Given the description of an element on the screen output the (x, y) to click on. 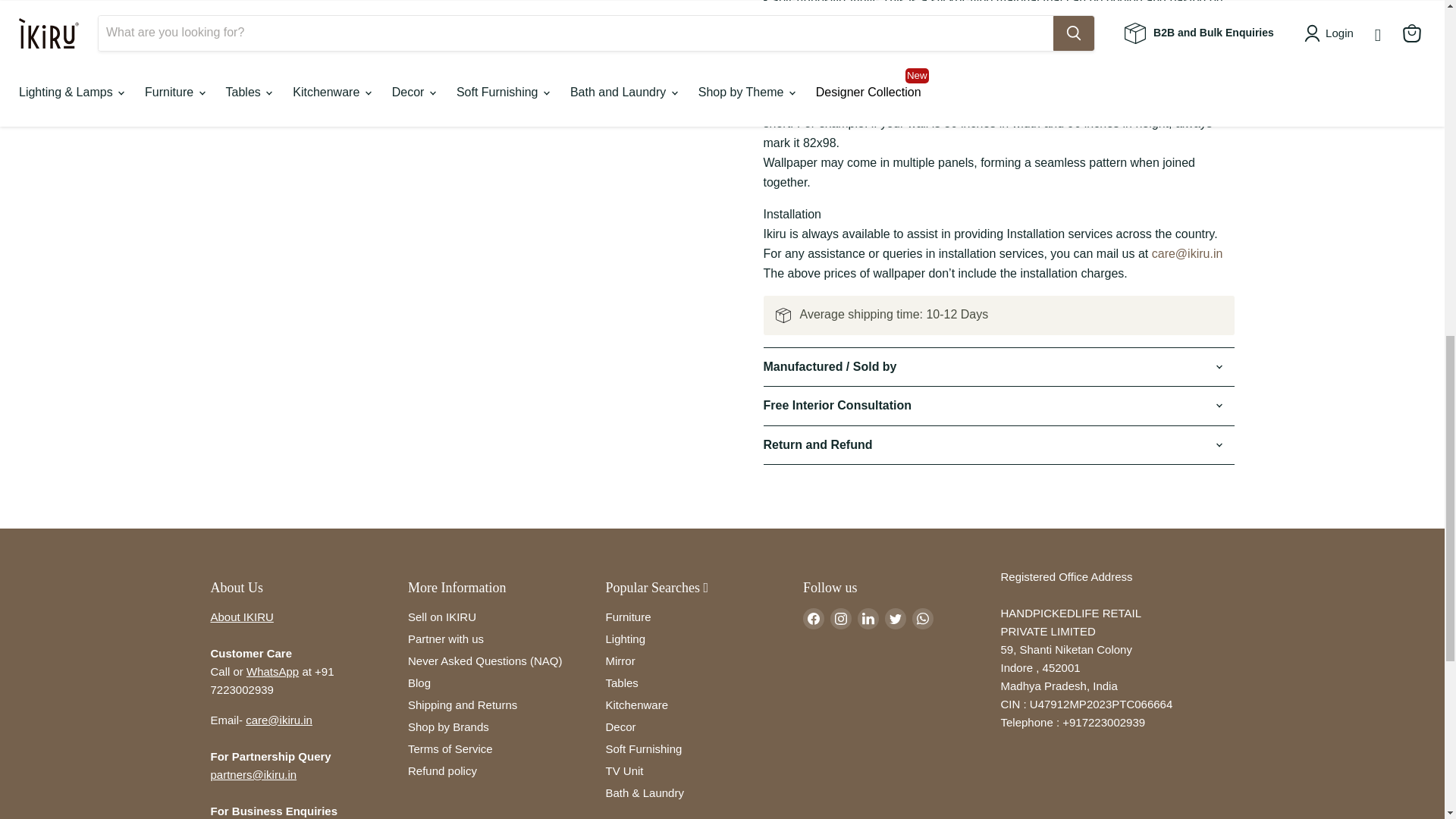
WhatsApp (922, 618)
Instagram (840, 618)
Twitter (895, 618)
About us (242, 616)
Facebook (813, 618)
LinkedIn (868, 618)
